Given the description of an element on the screen output the (x, y) to click on. 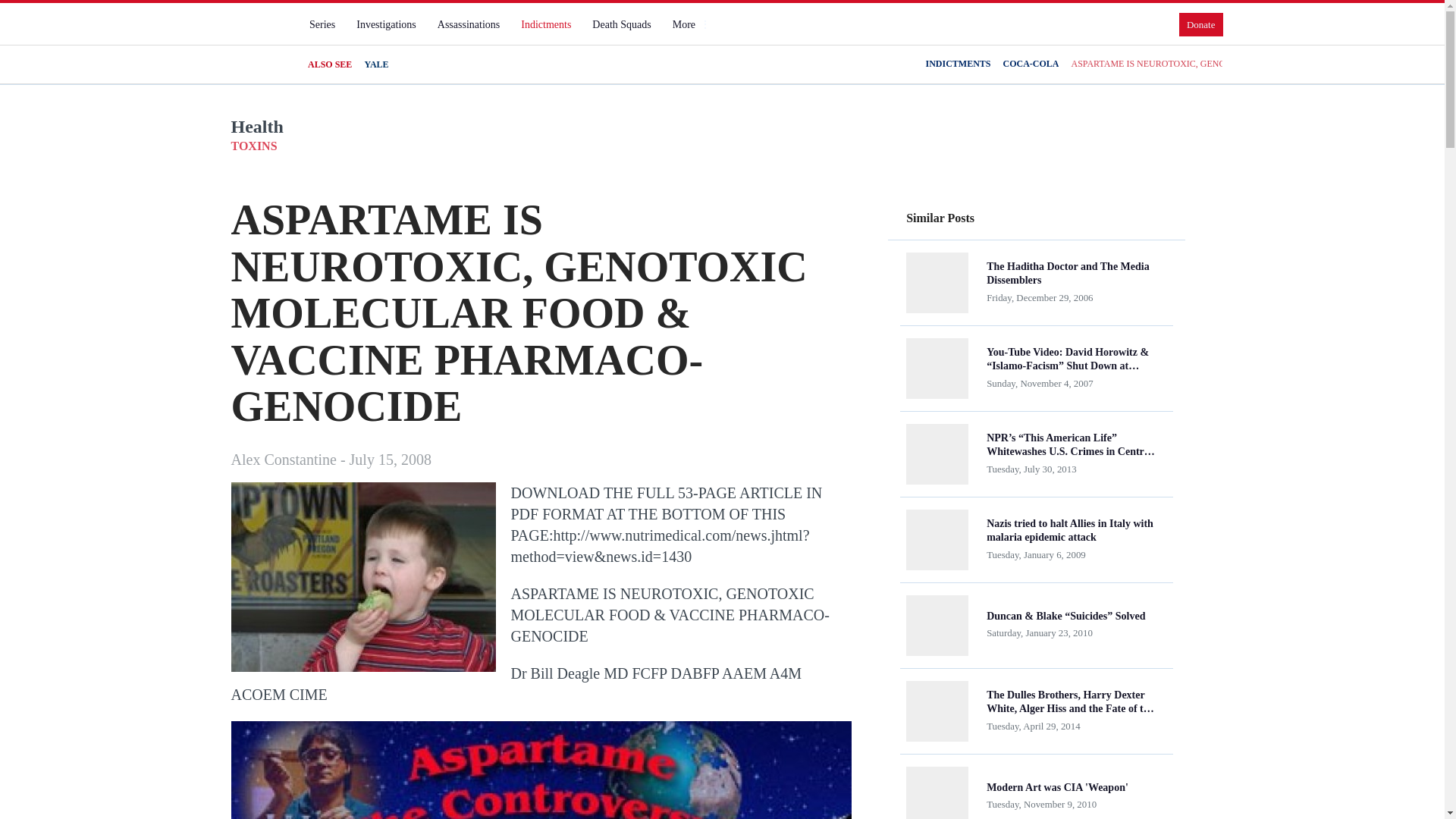
Death Squads (621, 23)
More (690, 24)
Series (321, 23)
Assassinations (467, 23)
Investigations (386, 23)
Indictments (545, 23)
COCA-COLA (1030, 63)
INDICTMENTS (957, 63)
Constantine Report (257, 37)
Donate (1201, 24)
